Given the description of an element on the screen output the (x, y) to click on. 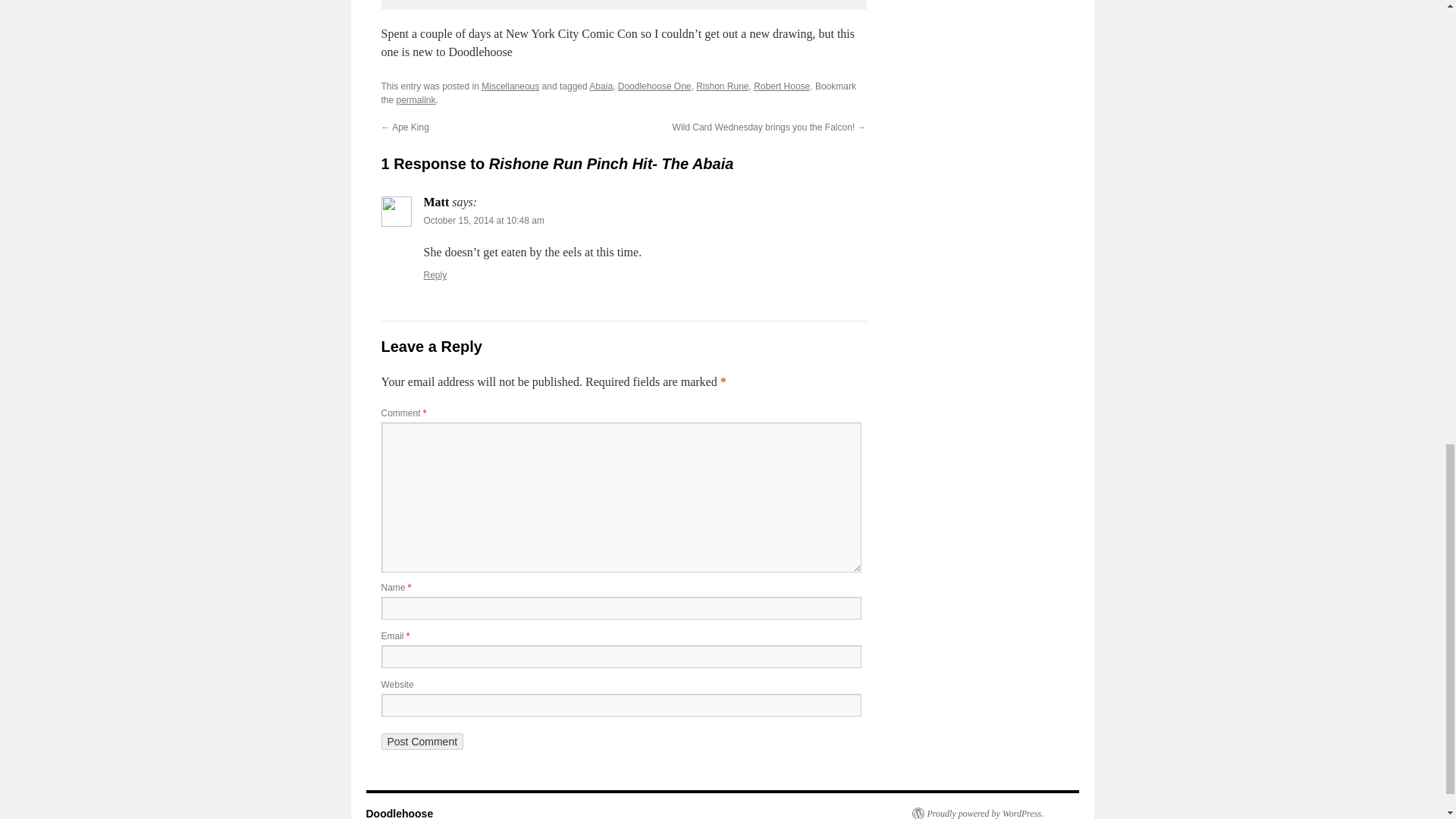
Post Comment (421, 741)
October 15, 2014 at 10:48 am (483, 220)
Permalink to Rishone Run Pinch Hit- The Abaia (415, 100)
Rishon Rune (721, 86)
Robert Hoose (781, 86)
permalink (415, 100)
Reply (434, 275)
Post Comment (421, 741)
Miscellaneous (509, 86)
Doodlehoose One (654, 86)
